Given the description of an element on the screen output the (x, y) to click on. 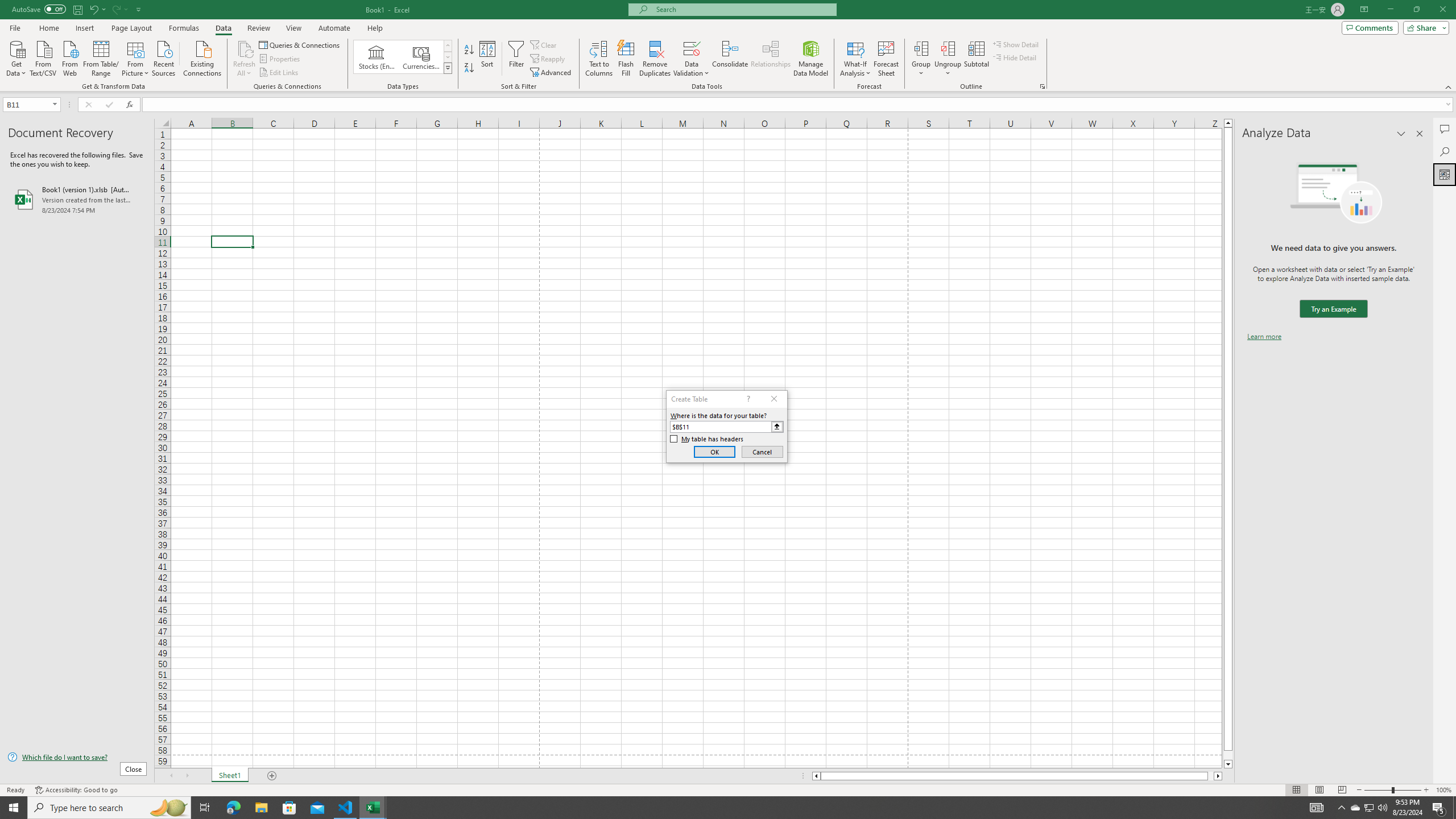
Filter (515, 58)
Group and Outline Settings (1042, 85)
Task Pane Options (1400, 133)
Recent Sources (163, 57)
Row up (448, 45)
Book1 (version 1).xlsb  [AutoRecovered] (77, 199)
Get Data (16, 57)
